Given the description of an element on the screen output the (x, y) to click on. 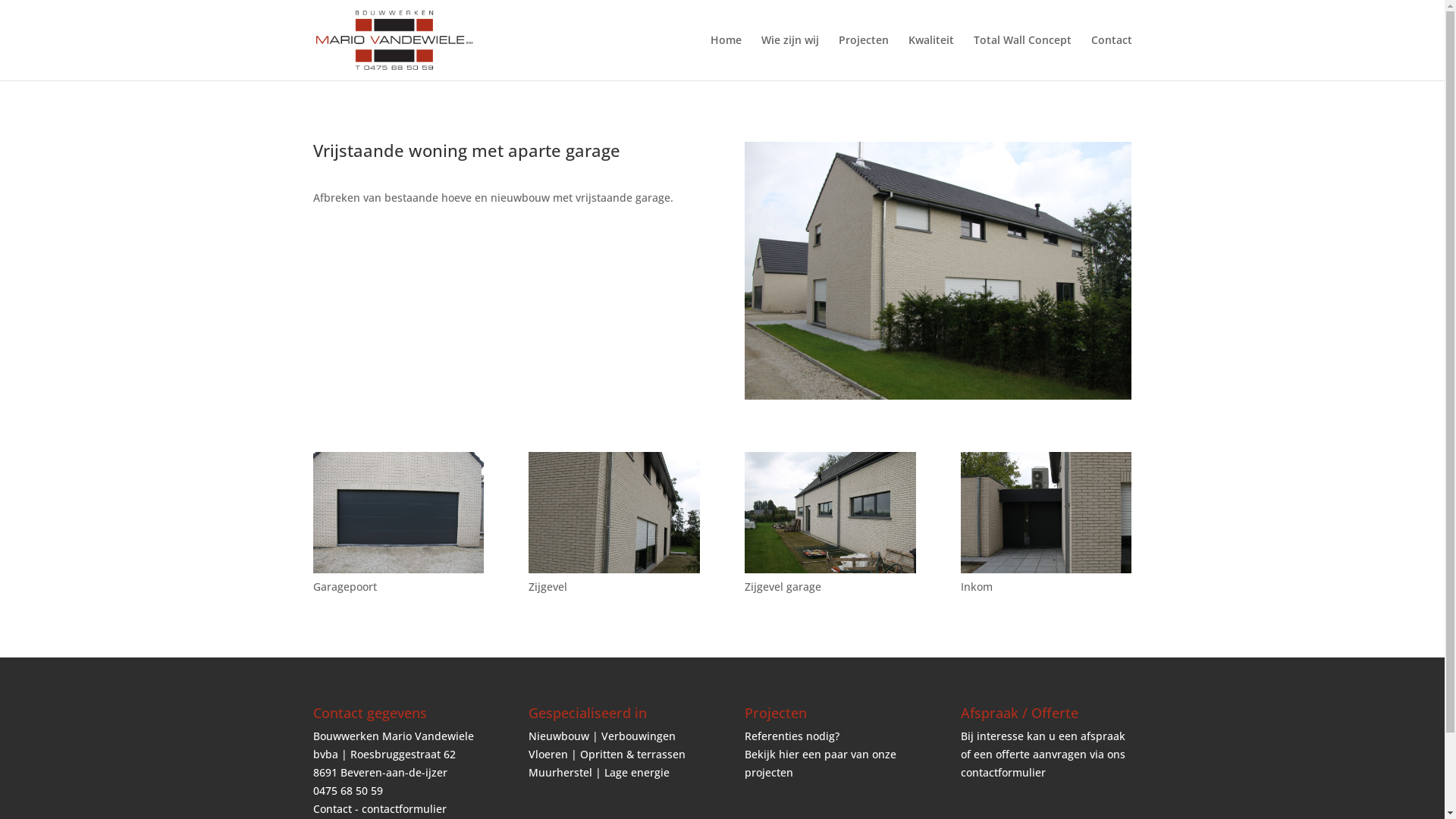
Contact Element type: text (1110, 57)
IMG_3988 Element type: hover (613, 572)
Wie zijn wij Element type: text (790, 57)
Total Wall Concept Element type: text (1022, 57)
contactformulier Element type: text (402, 808)
Projecten Element type: text (863, 57)
IMG_4010 Element type: hover (829, 572)
Kwaliteit Element type: text (930, 57)
contactformulier Element type: text (1002, 772)
hier Element type: text (788, 753)
IMG_3990 Element type: hover (1045, 572)
Home Element type: text (724, 57)
IMG_4001 Element type: hover (397, 572)
